Given the description of an element on the screen output the (x, y) to click on. 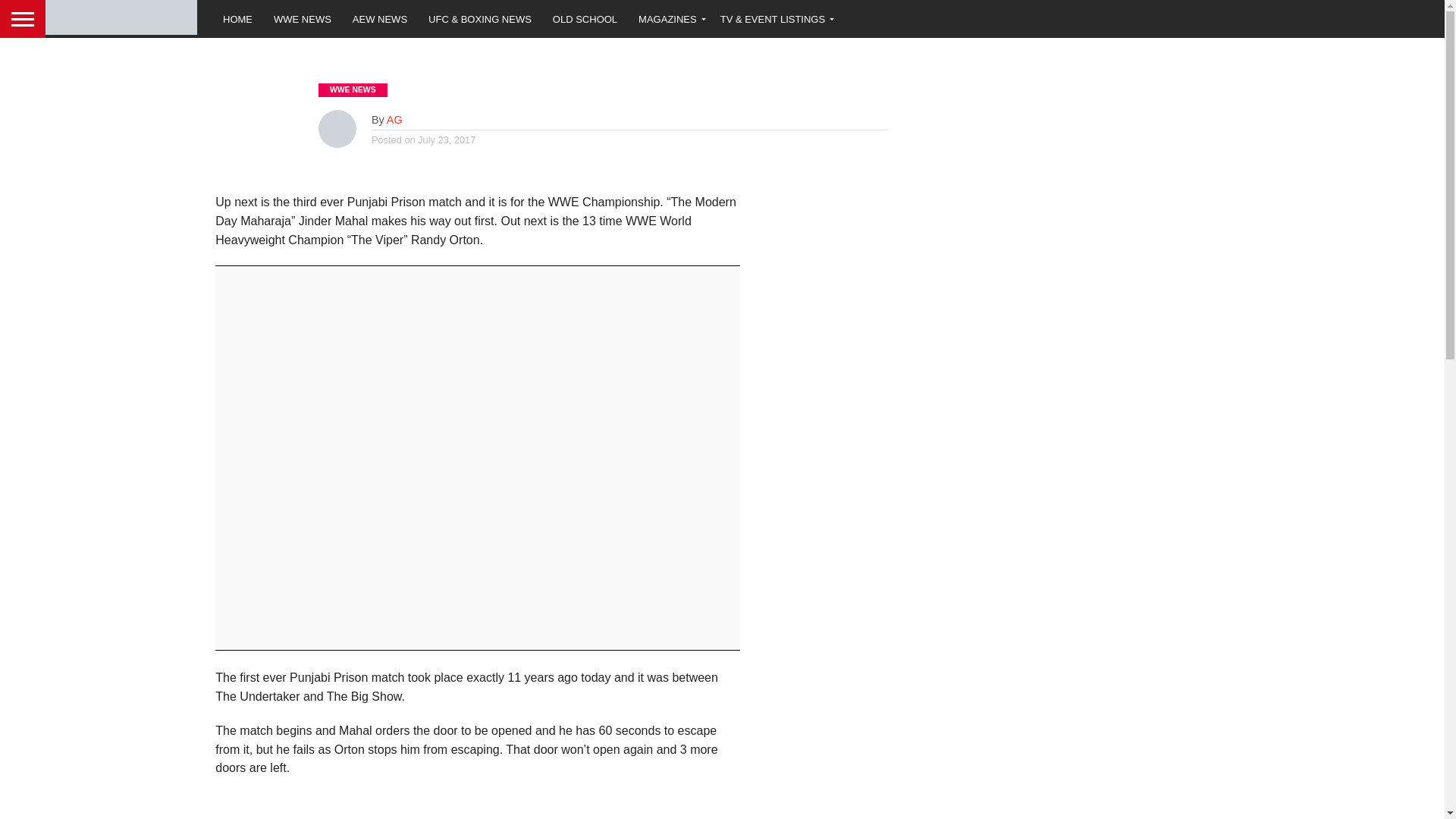
HOME (237, 18)
WWE NEWS (302, 18)
AEW NEWS (379, 18)
OLD SCHOOL (584, 18)
Posts by AG (395, 119)
MAGAZINES (668, 18)
